Given the description of an element on the screen output the (x, y) to click on. 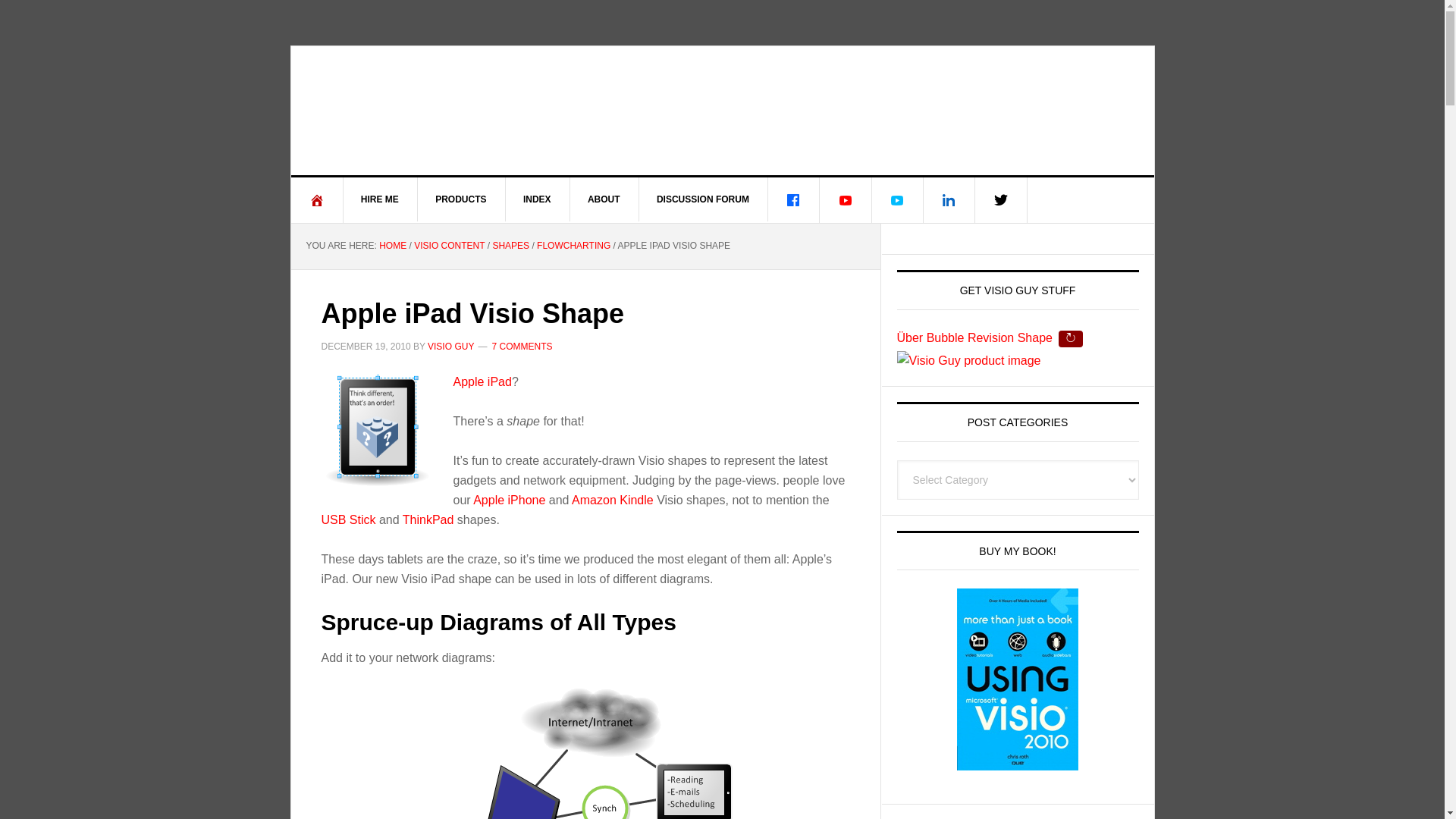
Companion videos for Using Visio 2010 book (896, 199)
Visio Guy home page (317, 199)
Visio Guy on YouTube (845, 199)
ipad-visio-shape-network-1 (585, 753)
Visio Guy on facebook (793, 199)
HIRE ME (379, 199)
ABOUT (604, 199)
Visio Guy on LinkedIn (949, 199)
INDEX (537, 199)
VISIO GUY (722, 110)
ipad-visio-shape-small (378, 429)
PRODUCTS (460, 199)
DISCUSSION FORUM (703, 199)
